Given the description of an element on the screen output the (x, y) to click on. 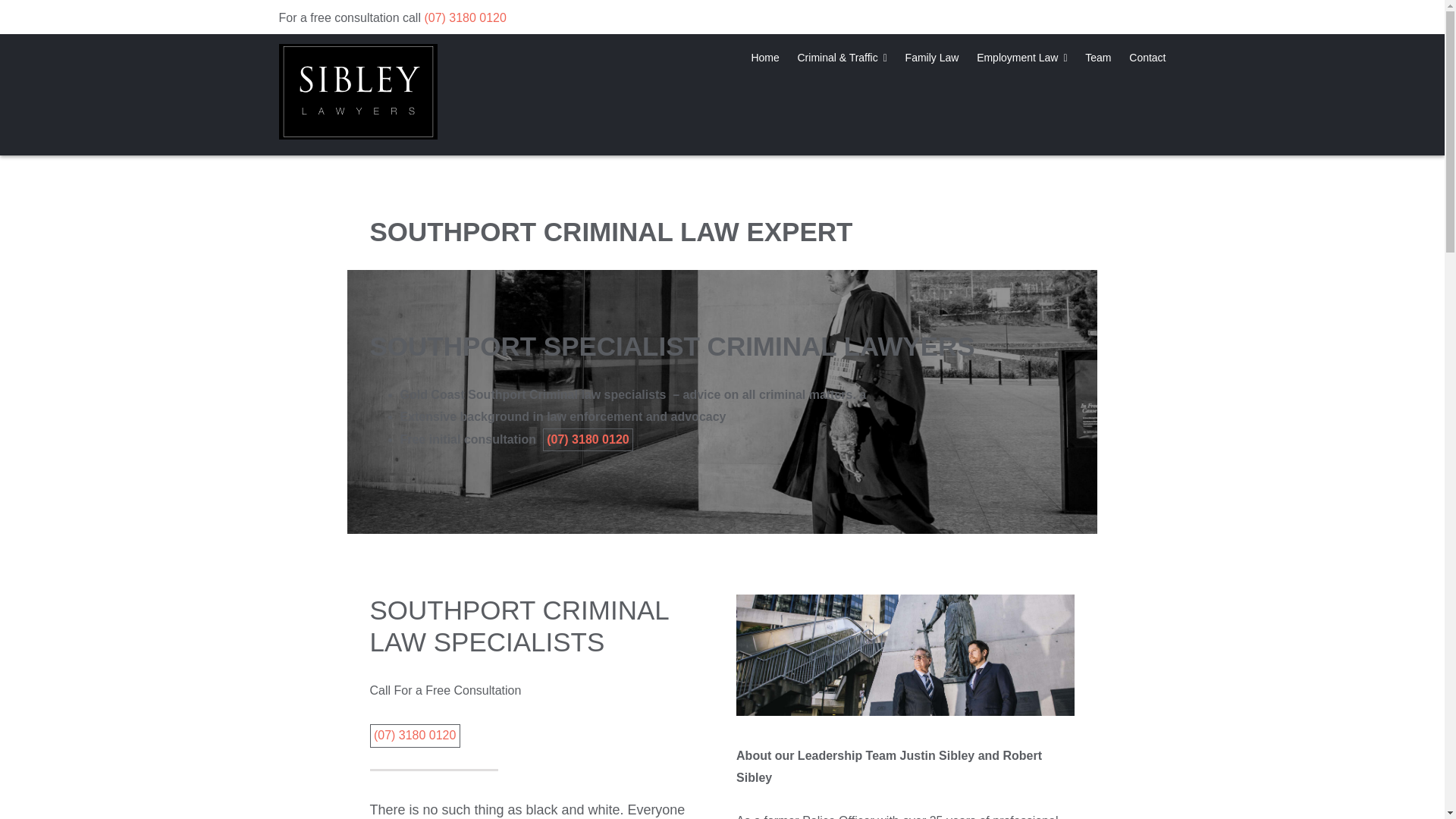
SOUTHPORT CRIMINAL LAW EXPERT (611, 231)
Employment Law (1021, 56)
Family Law (932, 56)
